Given the description of an element on the screen output the (x, y) to click on. 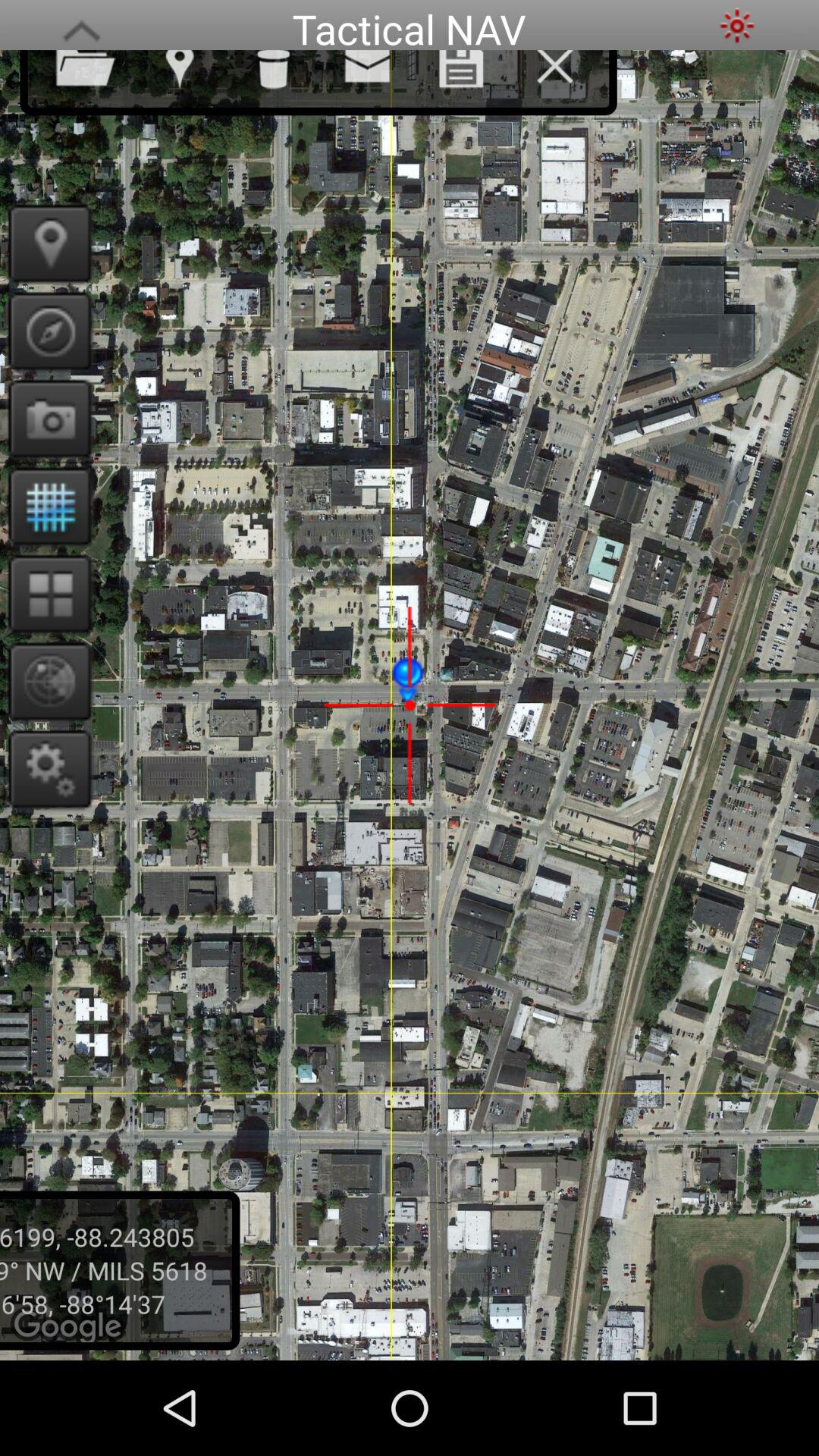
turn on the item to the right of the tactical nav item (737, 25)
